Given the description of an element on the screen output the (x, y) to click on. 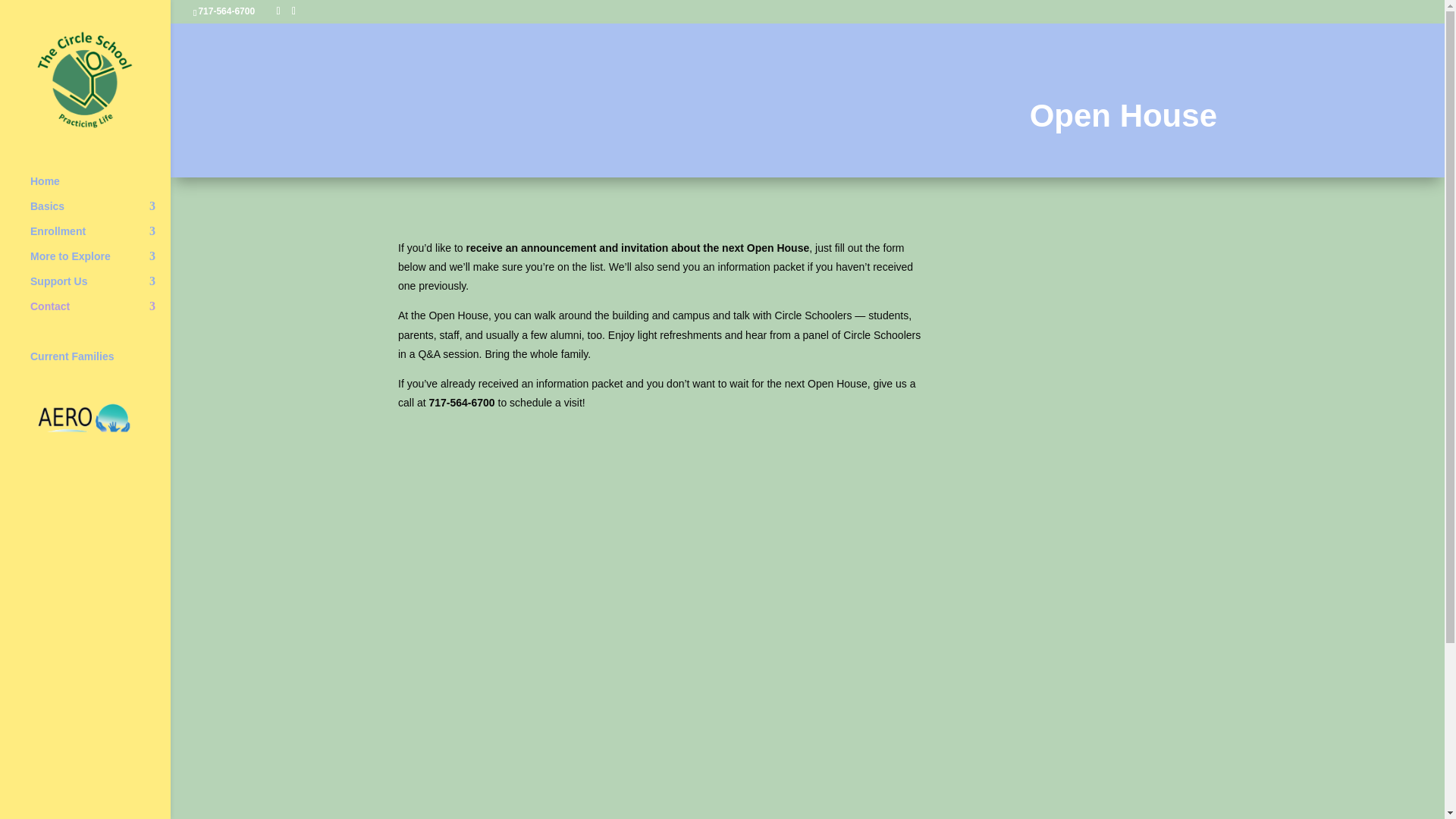
Support Us (100, 288)
Home (100, 188)
Current Families (100, 362)
Contact (100, 312)
717-564-6700 (226, 10)
More to Explore (100, 262)
Enrollment (100, 238)
Basics (100, 212)
